Given the description of an element on the screen output the (x, y) to click on. 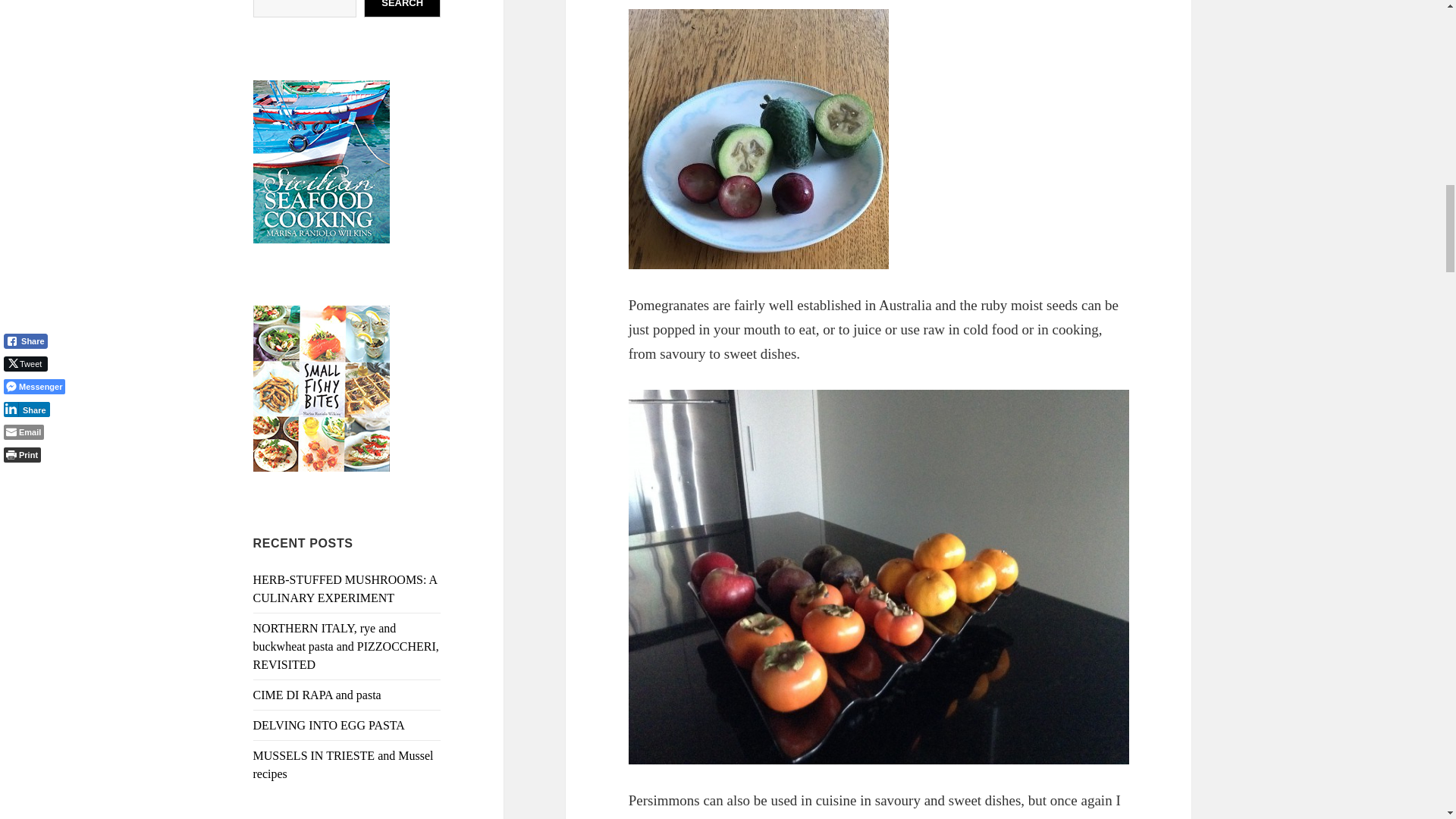
HERB-STUFFED MUSHROOMS: A CULINARY EXPERIMENT (345, 588)
SEARCH (402, 8)
MUSSELS IN TRIESTE and Mussel recipes (343, 764)
CIME DI RAPA and pasta (317, 694)
DELVING INTO EGG PASTA (328, 725)
